Given the description of an element on the screen output the (x, y) to click on. 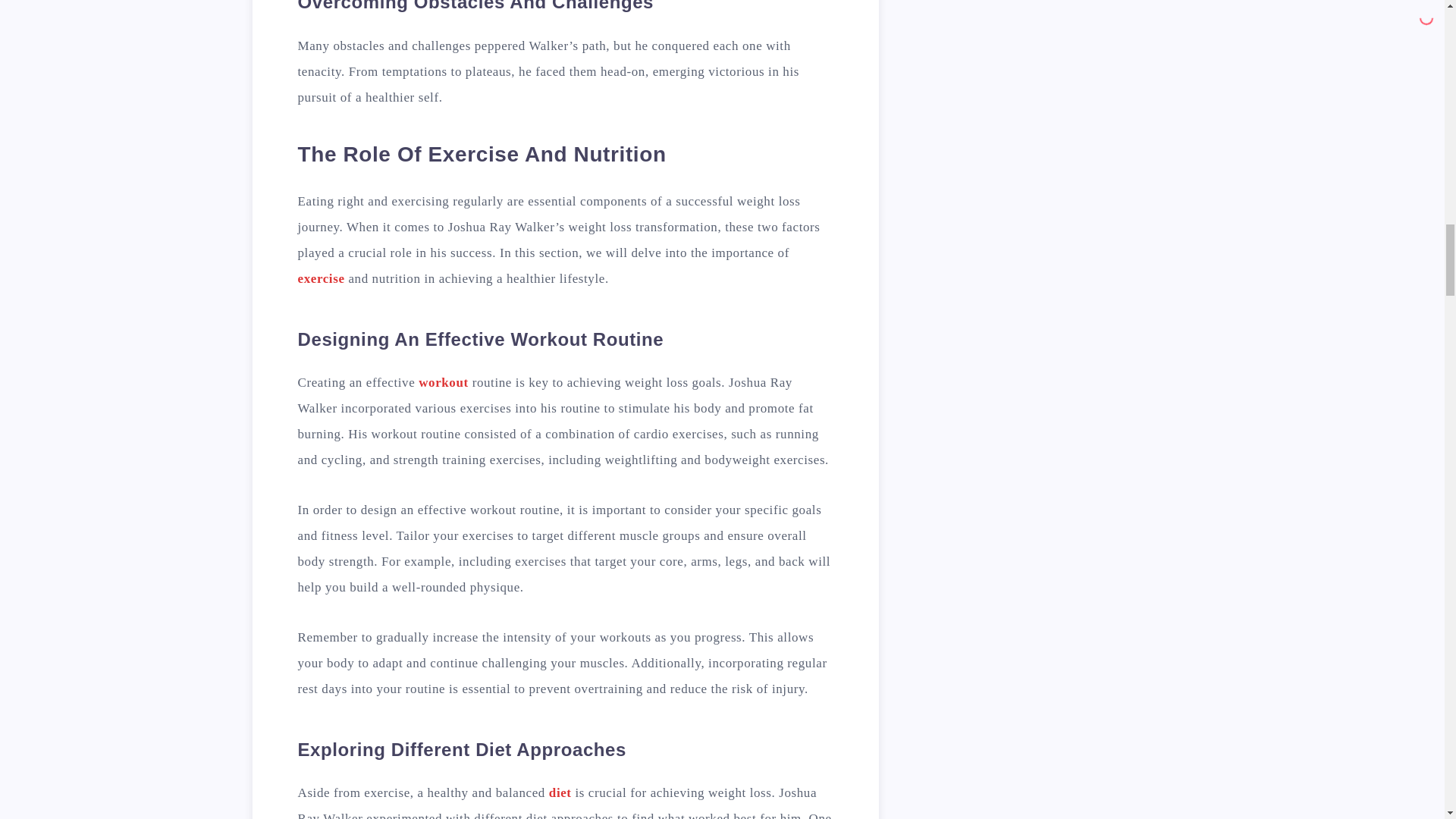
exercise (320, 278)
diet (560, 792)
workout (443, 382)
